Given the description of an element on the screen output the (x, y) to click on. 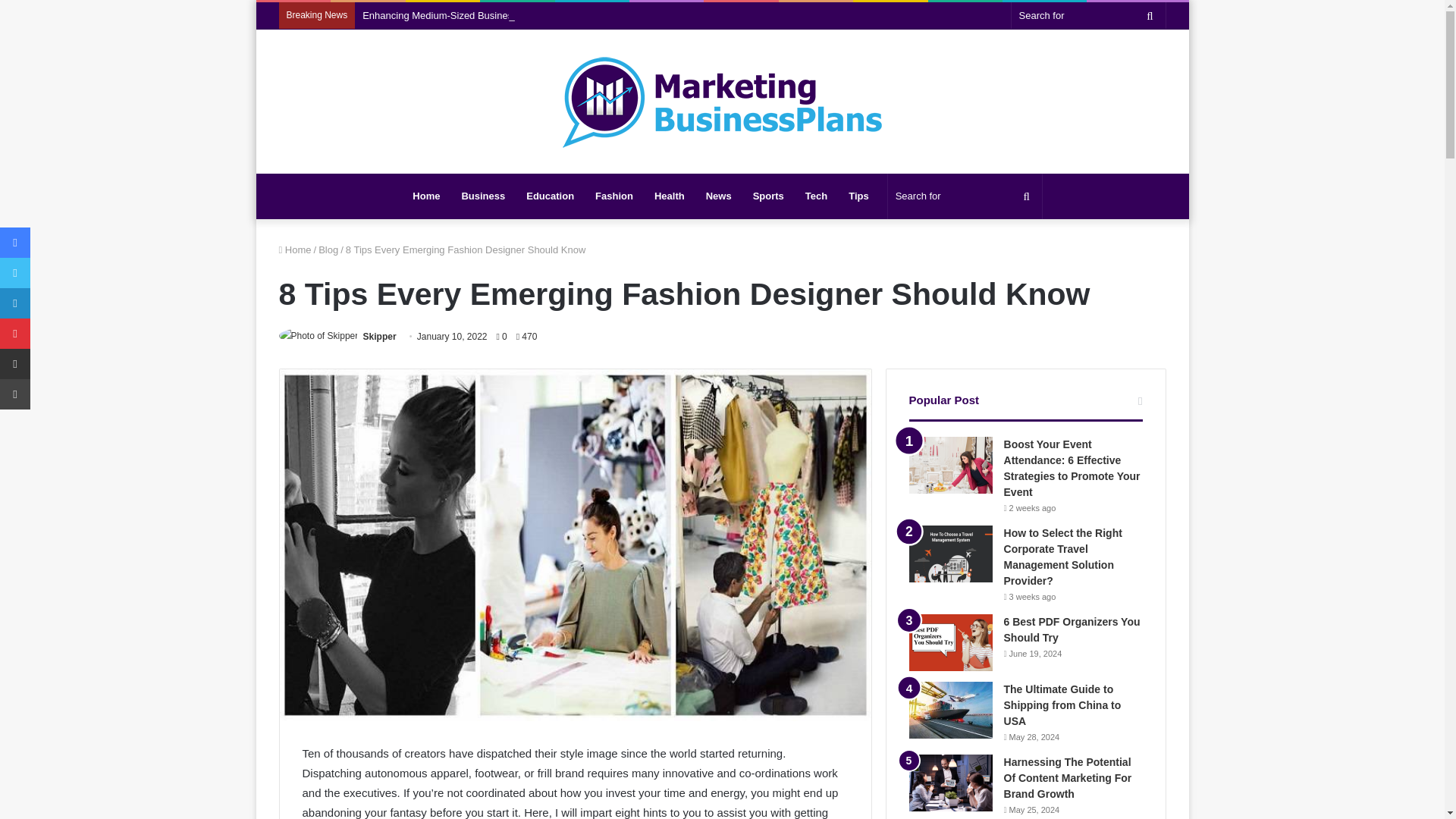
Health (669, 196)
Facebook (15, 242)
Blog (327, 249)
Twitter (15, 272)
Fashion (614, 196)
Search for (1149, 15)
Skipper (379, 336)
Tips (858, 196)
Tech (816, 196)
Sports (768, 196)
Search for (965, 196)
Skipper (379, 336)
Business (482, 196)
Home (295, 249)
News (718, 196)
